Given the description of an element on the screen output the (x, y) to click on. 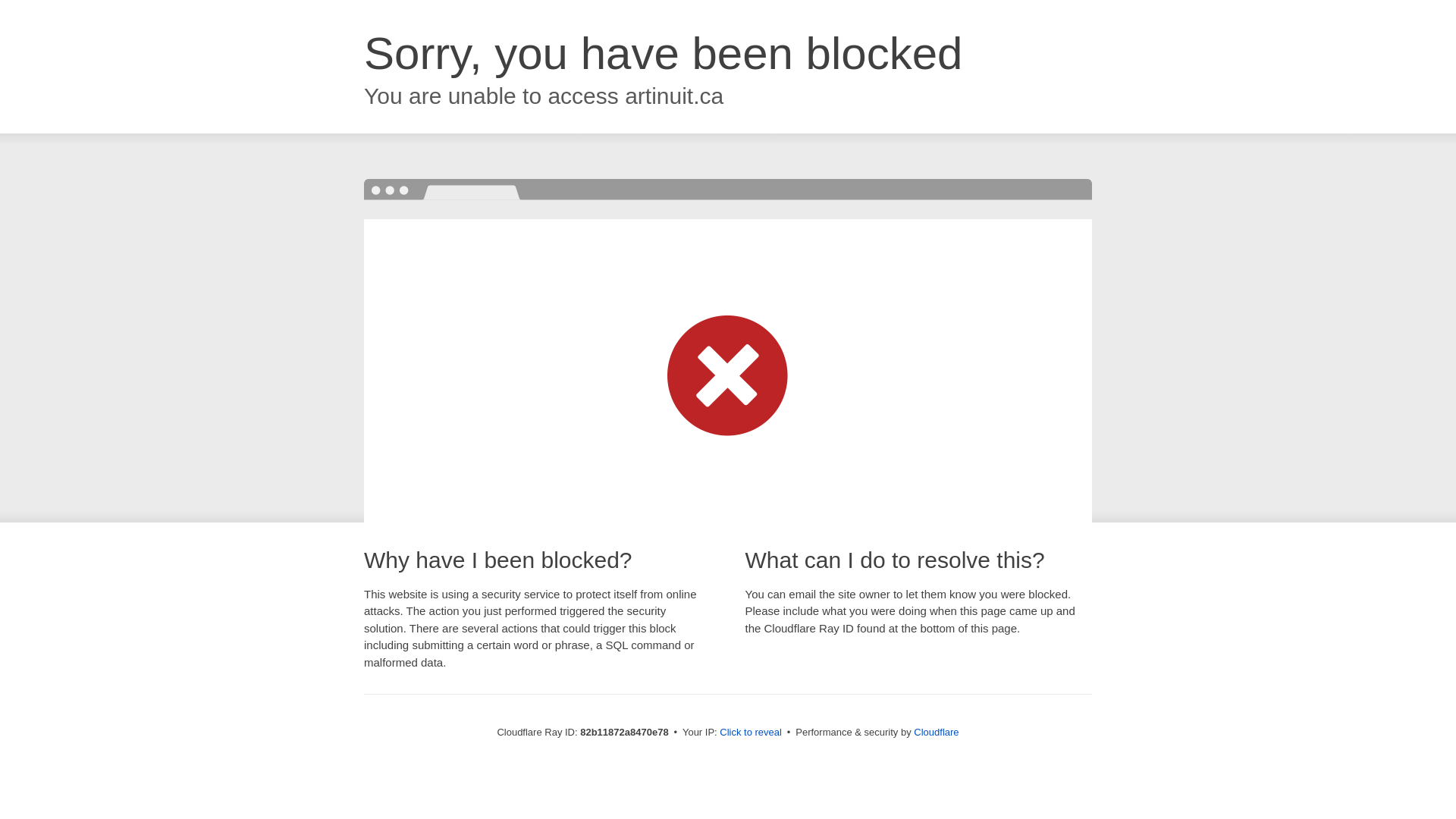
Click to reveal Element type: text (750, 732)
Cloudflare Element type: text (935, 731)
